Given the description of an element on the screen output the (x, y) to click on. 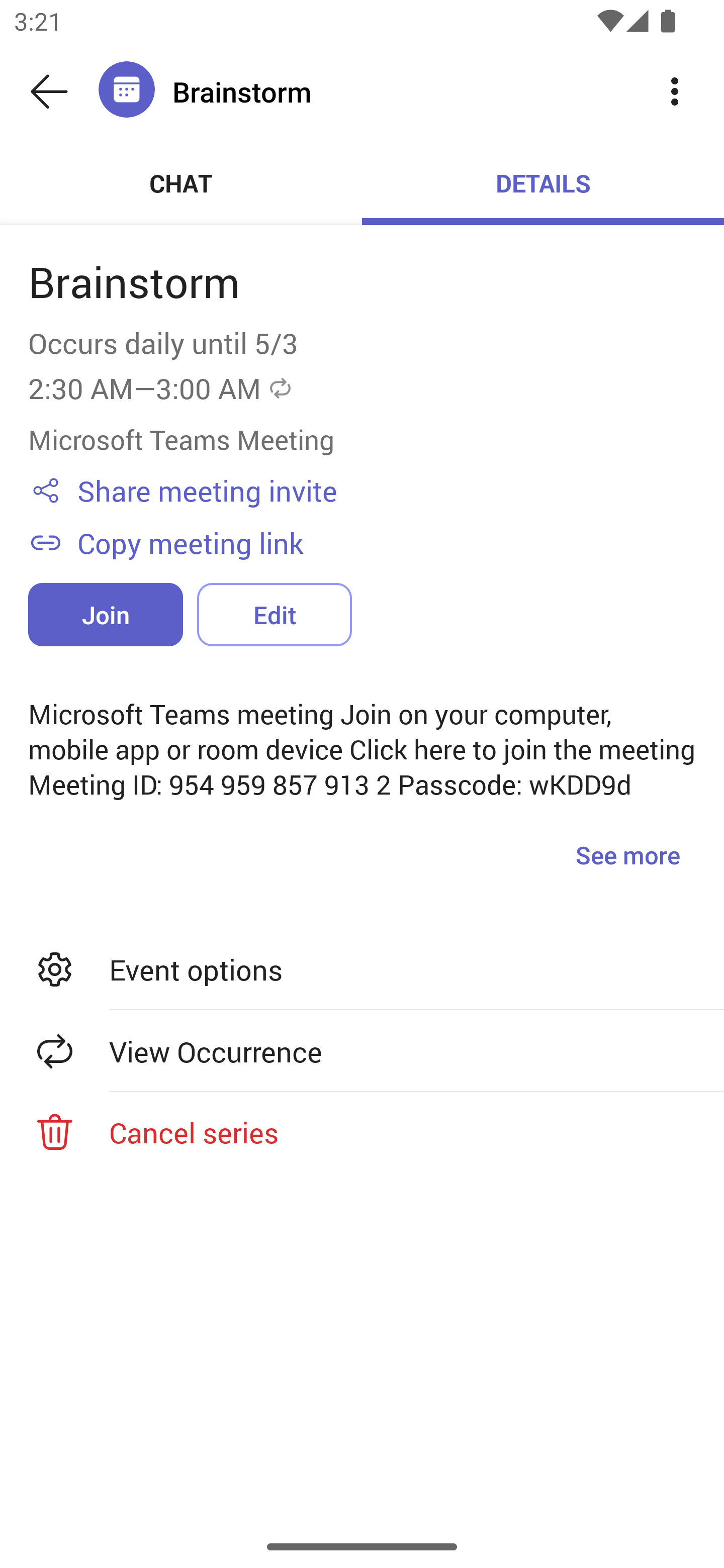
Back (49, 91)
More options (674, 90)
Brainstorm (398, 91)
Chat CHAT (181, 183)
Share meeting invite Share meeting invite link. (386, 490)
Copy meeting link (386, 542)
Join (105, 614)
Edit (273, 614)
See more See more detailed description (626, 854)
Event options (362, 968)
View Occurrence (362, 1051)
Cancel series button Cancel series (362, 1131)
